Given the description of an element on the screen output the (x, y) to click on. 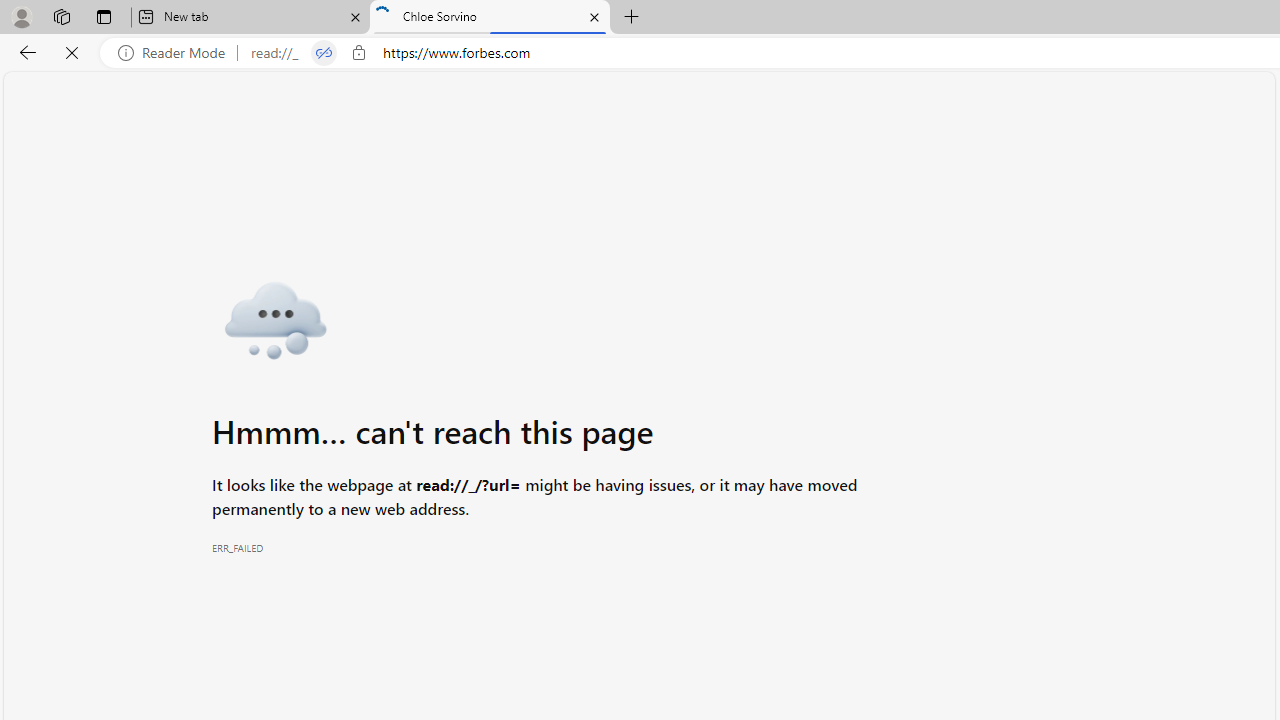
Reader Mode (177, 53)
Tabs in split screen (323, 53)
Chloe Sorvino (490, 17)
